Given the description of an element on the screen output the (x, y) to click on. 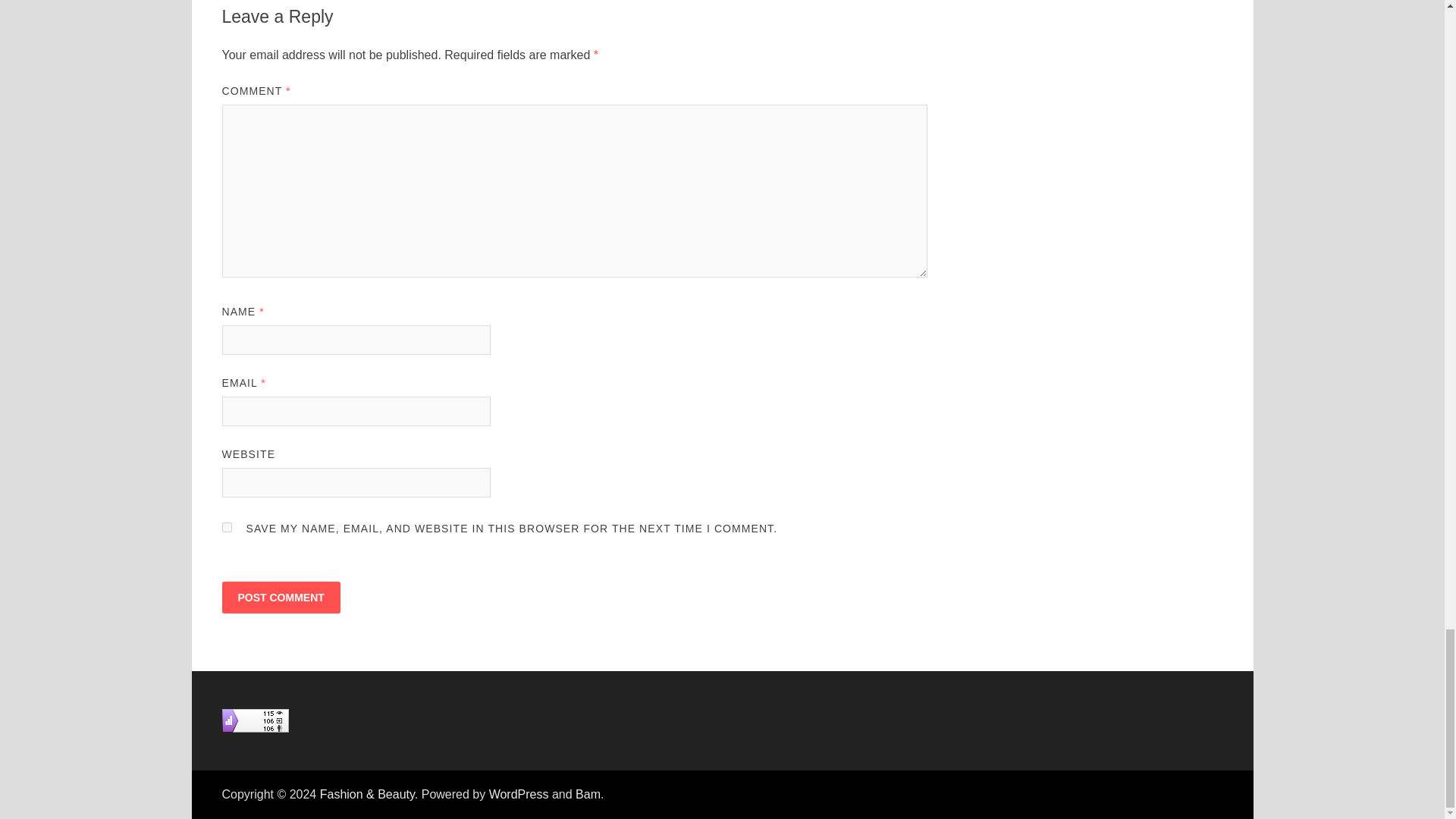
Bam (587, 793)
Post Comment (280, 597)
WordPress (518, 793)
Post Comment (280, 597)
yes (226, 527)
